Given the description of an element on the screen output the (x, y) to click on. 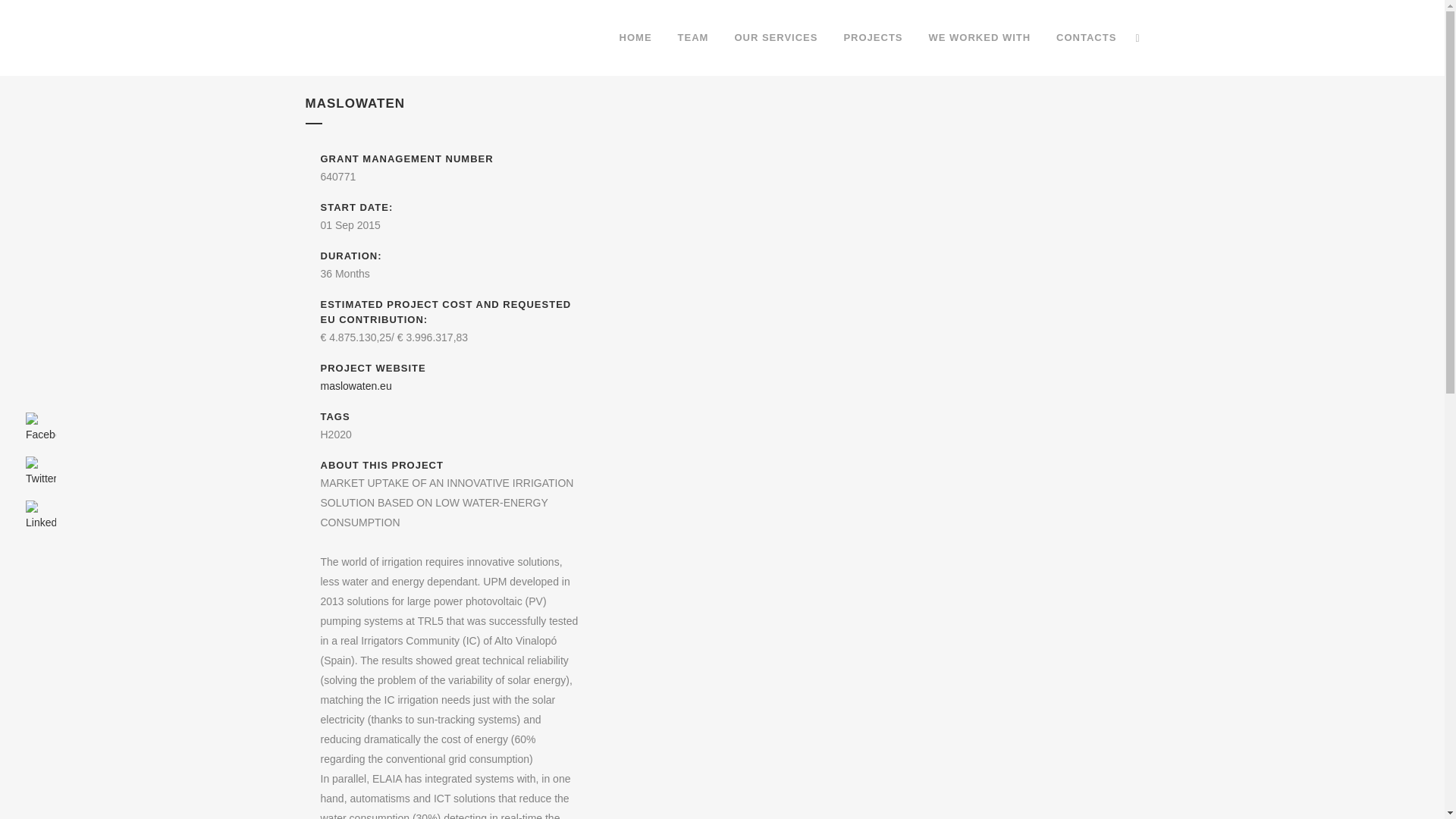
OUR SERVICES (774, 38)
maslowaten.eu (355, 386)
PROJECTS (872, 38)
Twitter (41, 472)
Facebook (41, 428)
WE WORKED WITH (979, 38)
CONTACTS (1086, 38)
LinkedIn (41, 516)
